Given the description of an element on the screen output the (x, y) to click on. 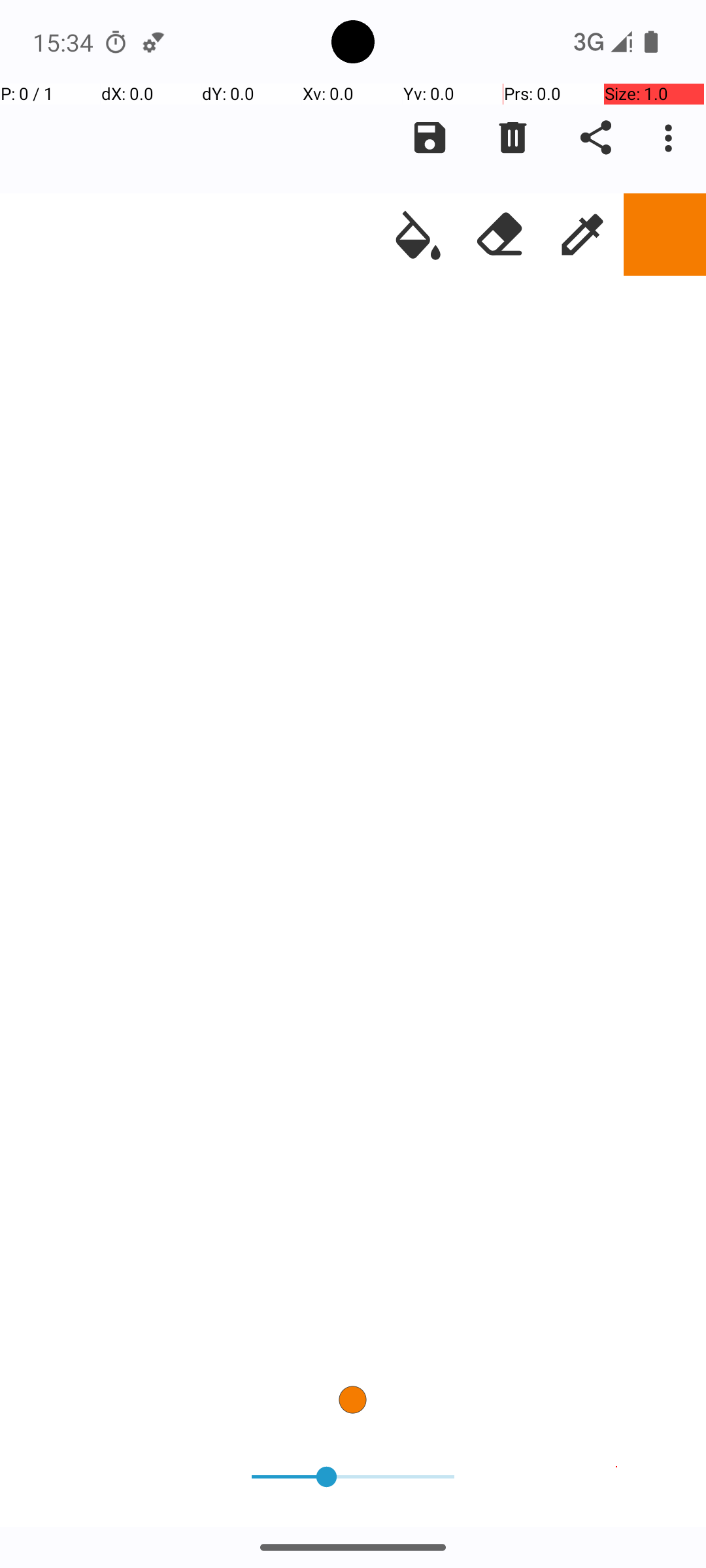
Android System notification: Wi‑Fi will turn on automatically Element type: android.widget.ImageView (153, 41)
